Given the description of an element on the screen output the (x, y) to click on. 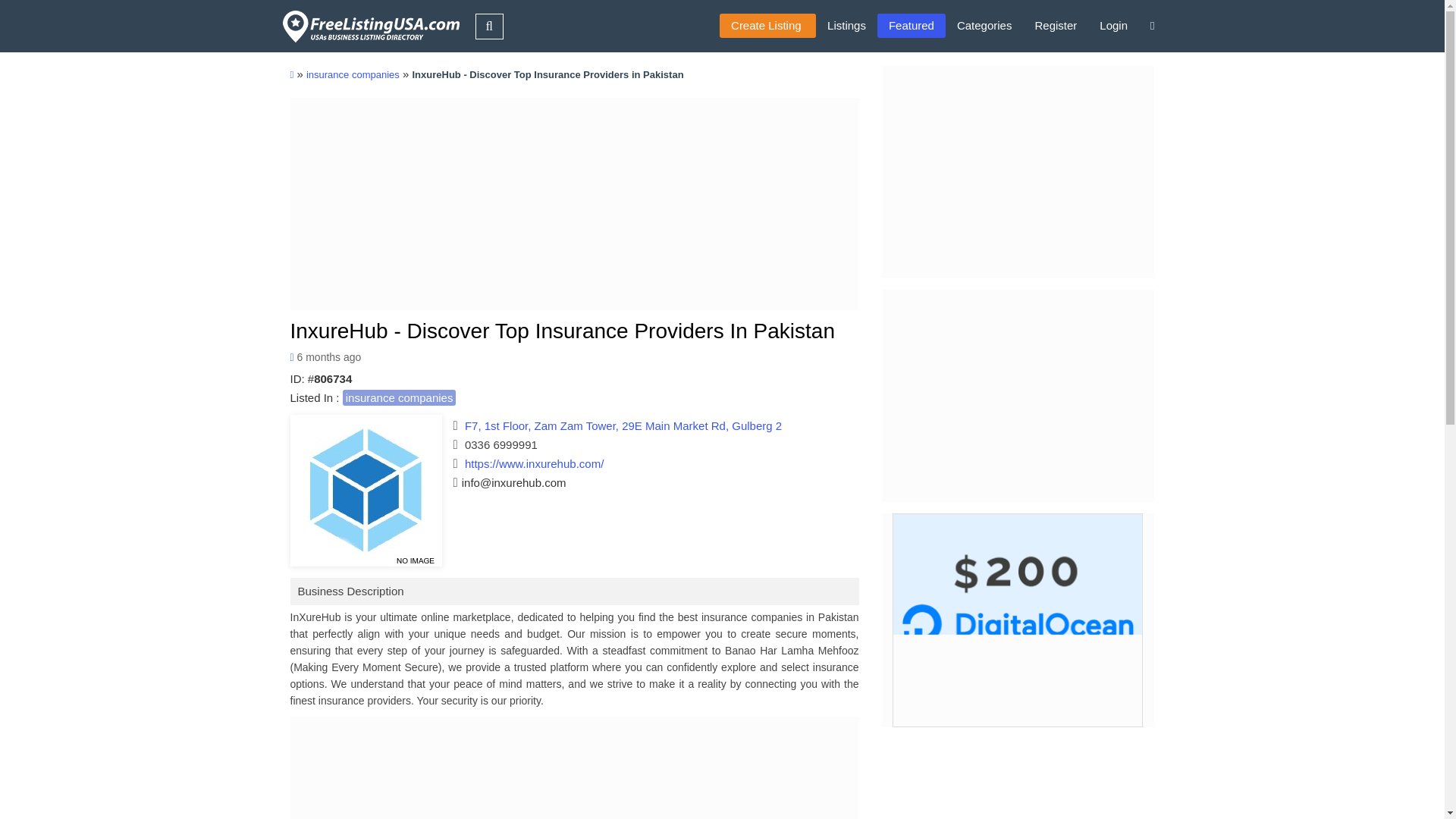
Categories (983, 25)
Listings (846, 25)
Featured (910, 25)
List your business for free (767, 25)
Register (1055, 25)
Login (1112, 25)
insurance companies (399, 397)
FreeListingUSA logo (369, 25)
0336 6999991 (500, 444)
insurance companies (351, 74)
F7, 1st Floor, Zam Zam Tower, 29E Main Market Rd, Gulberg 2 (622, 425)
InxureHub - Discover Top Insurance Providers In Pakistan (561, 331)
Create Listing (767, 25)
